Given the description of an element on the screen output the (x, y) to click on. 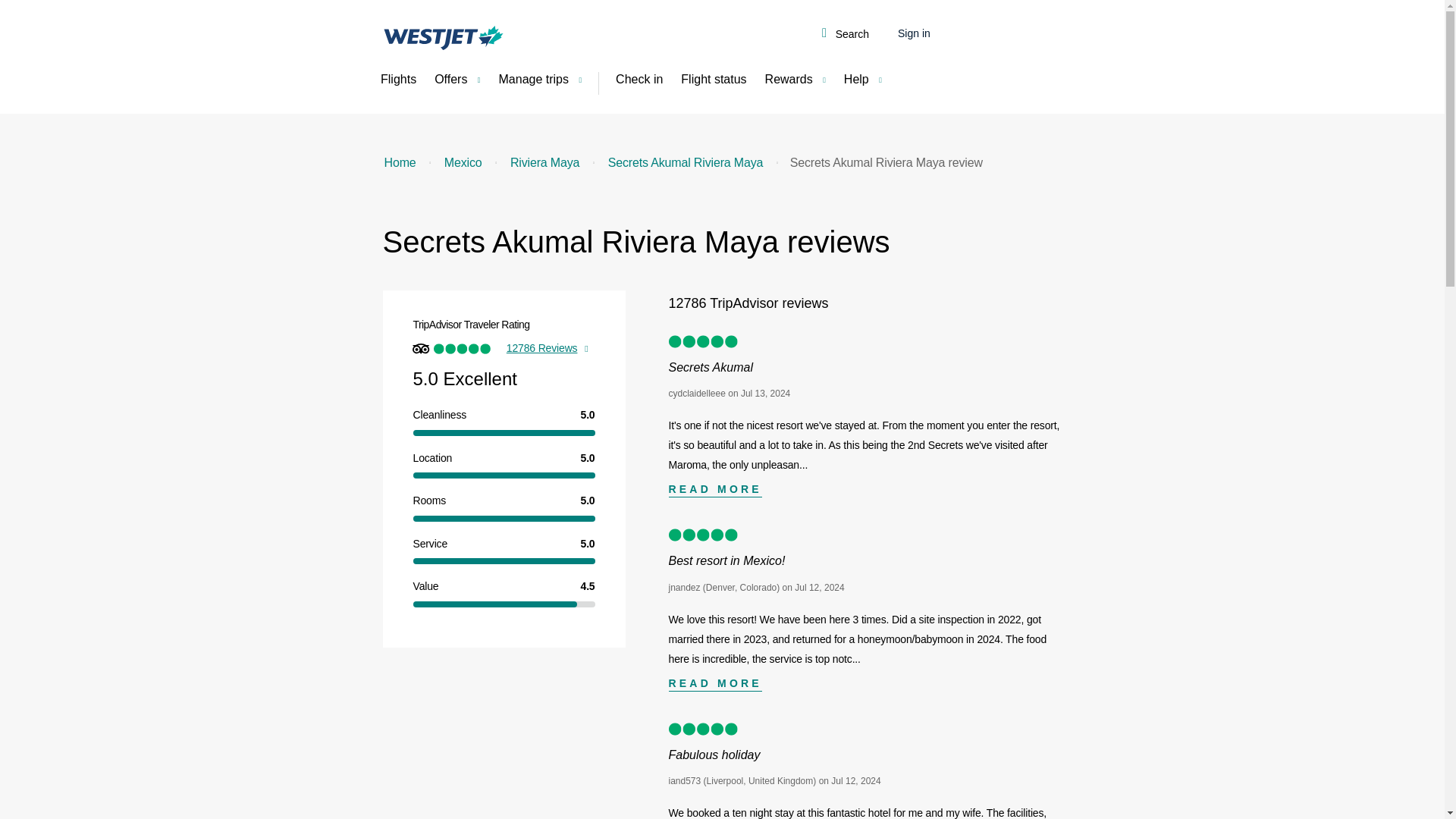
Search (845, 34)
Manage trips (540, 79)
Help (862, 79)
Check in (639, 79)
Flight status (713, 79)
Flights (398, 79)
Rewards (794, 79)
Navigate to the homepage (443, 37)
Sign in (913, 33)
Home (399, 162)
Offers (457, 79)
